Given the description of an element on the screen output the (x, y) to click on. 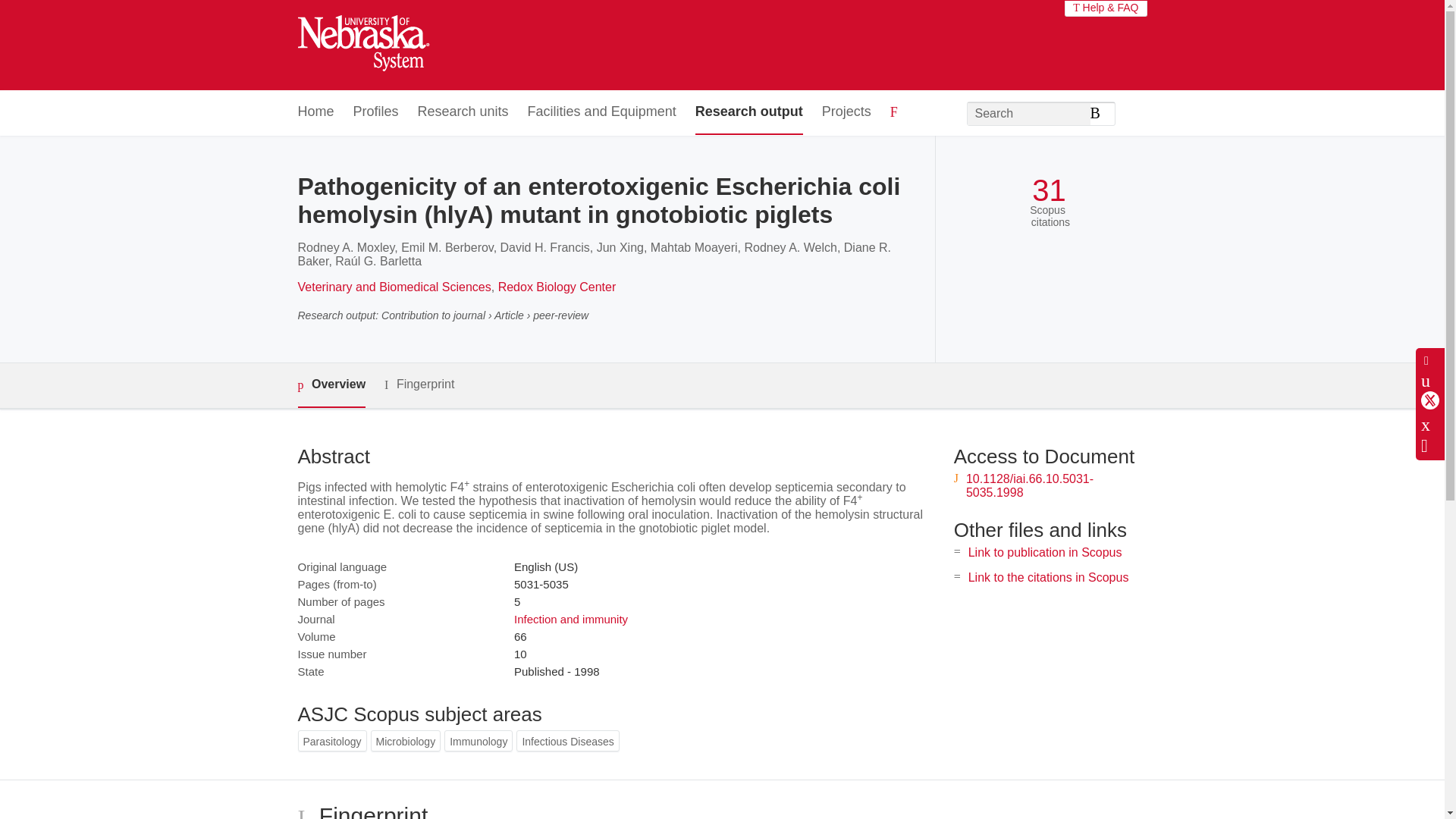
Projects (846, 112)
Facilities and Equipment (602, 112)
Infection and immunity (570, 618)
Overview (331, 385)
Redox Biology Center (556, 286)
Link to publication in Scopus (1045, 552)
Research units (462, 112)
Link to the citations in Scopus (1048, 576)
31 (1048, 190)
Research output (749, 112)
Research Nebraska Home (363, 45)
Veterinary and Biomedical Sciences (393, 286)
Fingerprint (419, 384)
Profiles (375, 112)
